Given the description of an element on the screen output the (x, y) to click on. 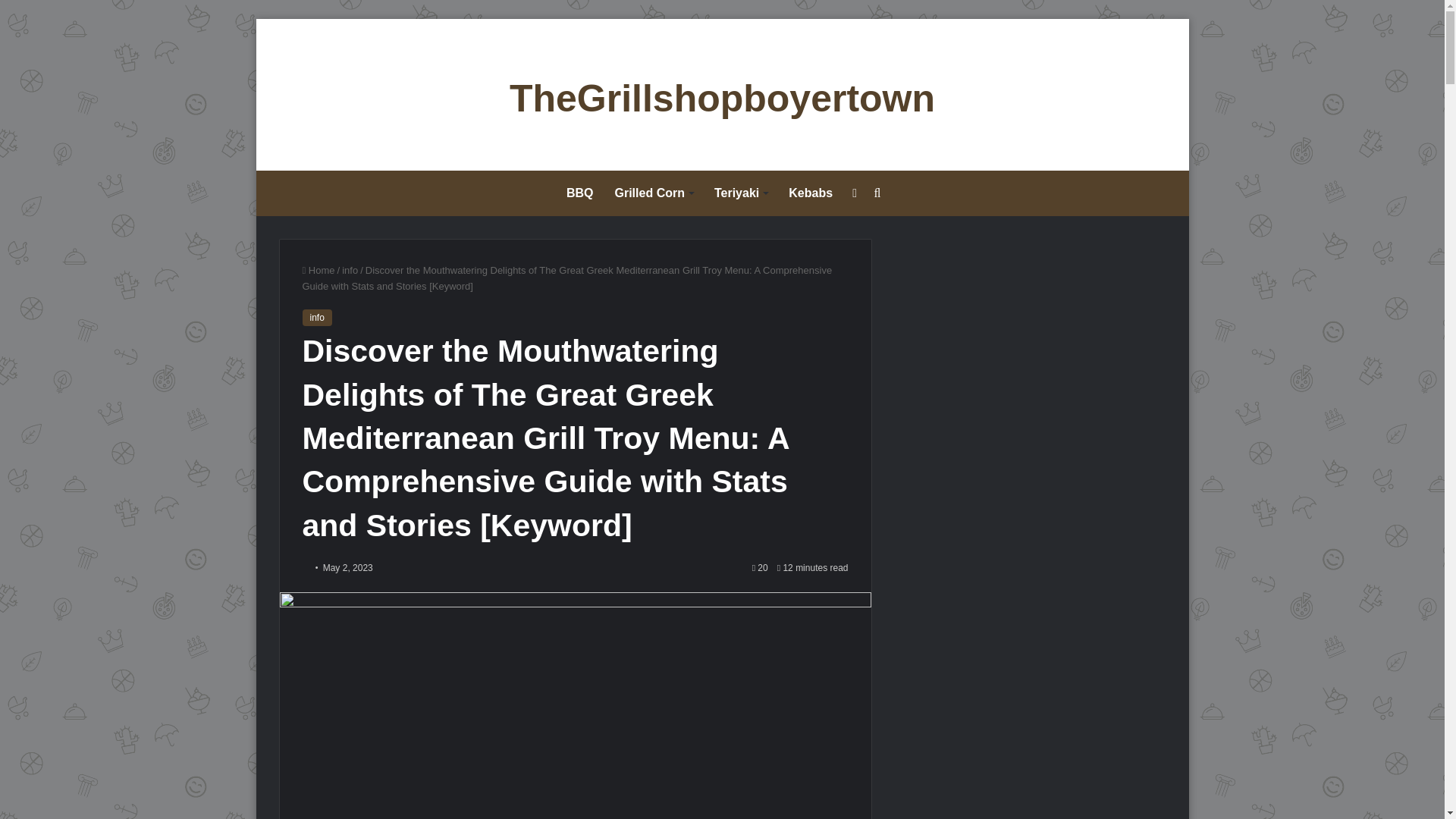
Home (317, 270)
info (350, 270)
TheGrillshopboyertown (721, 98)
TheGrillshopboyertown (721, 98)
info (316, 317)
Teriyaki (740, 193)
Grilled Corn (653, 193)
Kebabs (810, 193)
BBQ (580, 193)
